Given the description of an element on the screen output the (x, y) to click on. 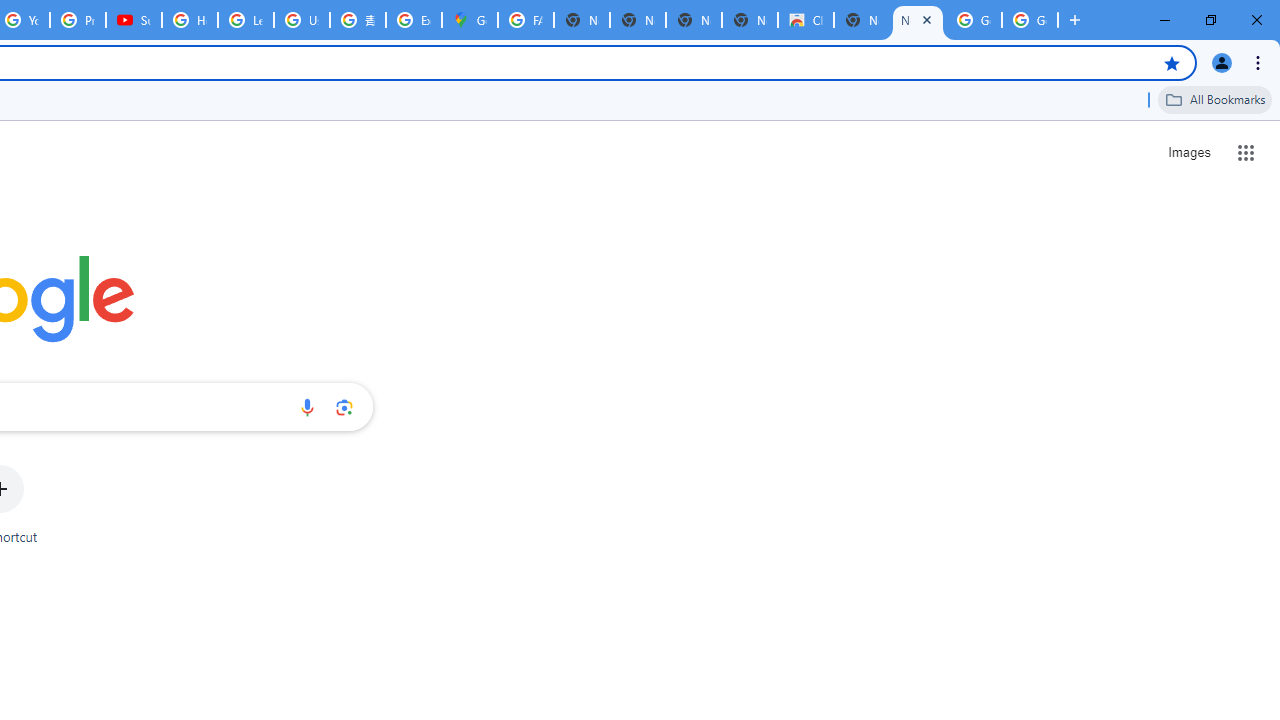
Chrome Web Store (806, 20)
Google Images (973, 20)
Search by voice (307, 407)
Google Maps (469, 20)
Google Images (1030, 20)
All Bookmarks (1215, 99)
